Given the description of an element on the screen output the (x, y) to click on. 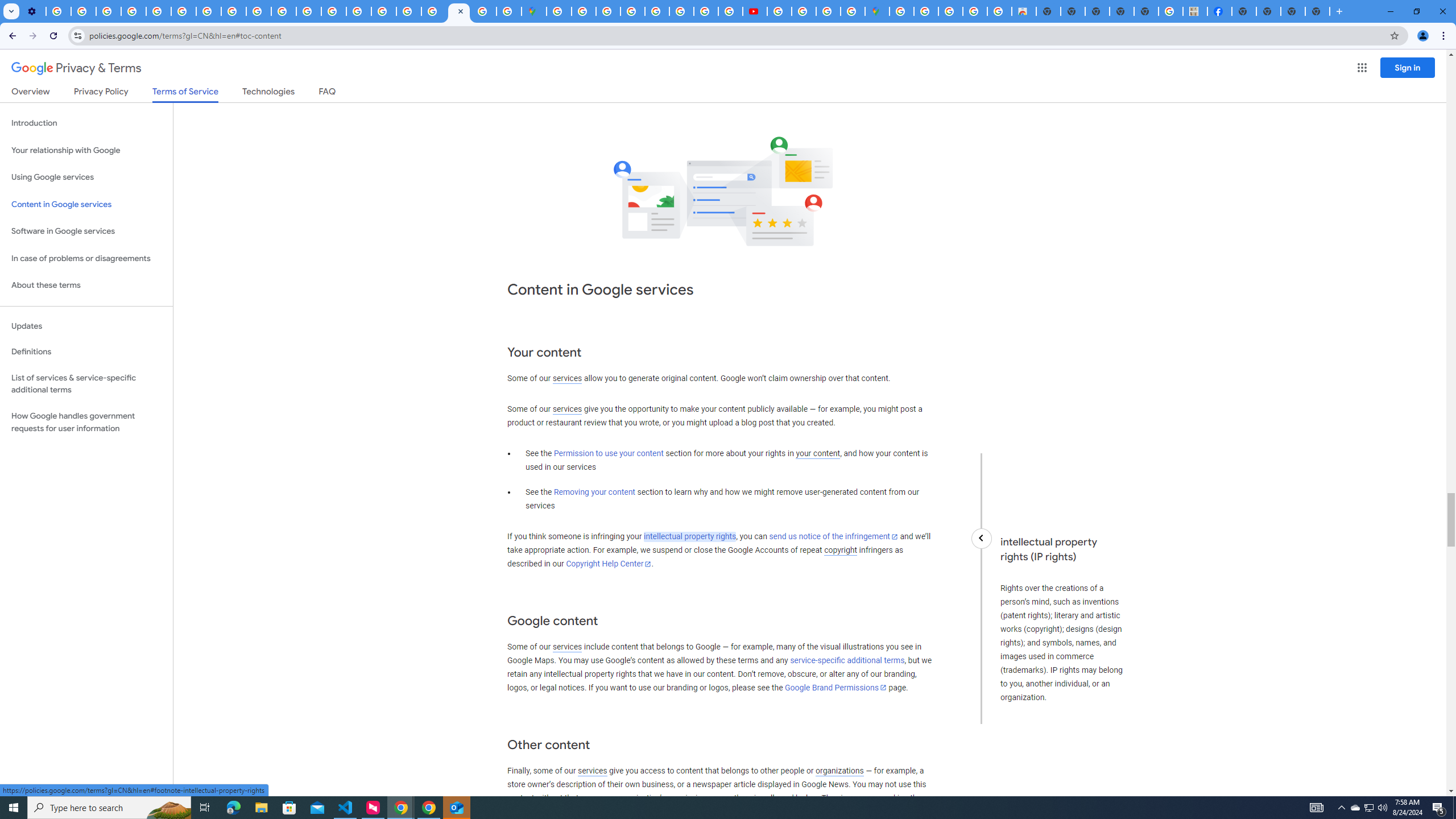
Settings - Customize profile (33, 11)
About these terms (86, 284)
Privacy Help Center - Policies Help (158, 11)
copyright (840, 550)
